Given the description of an element on the screen output the (x, y) to click on. 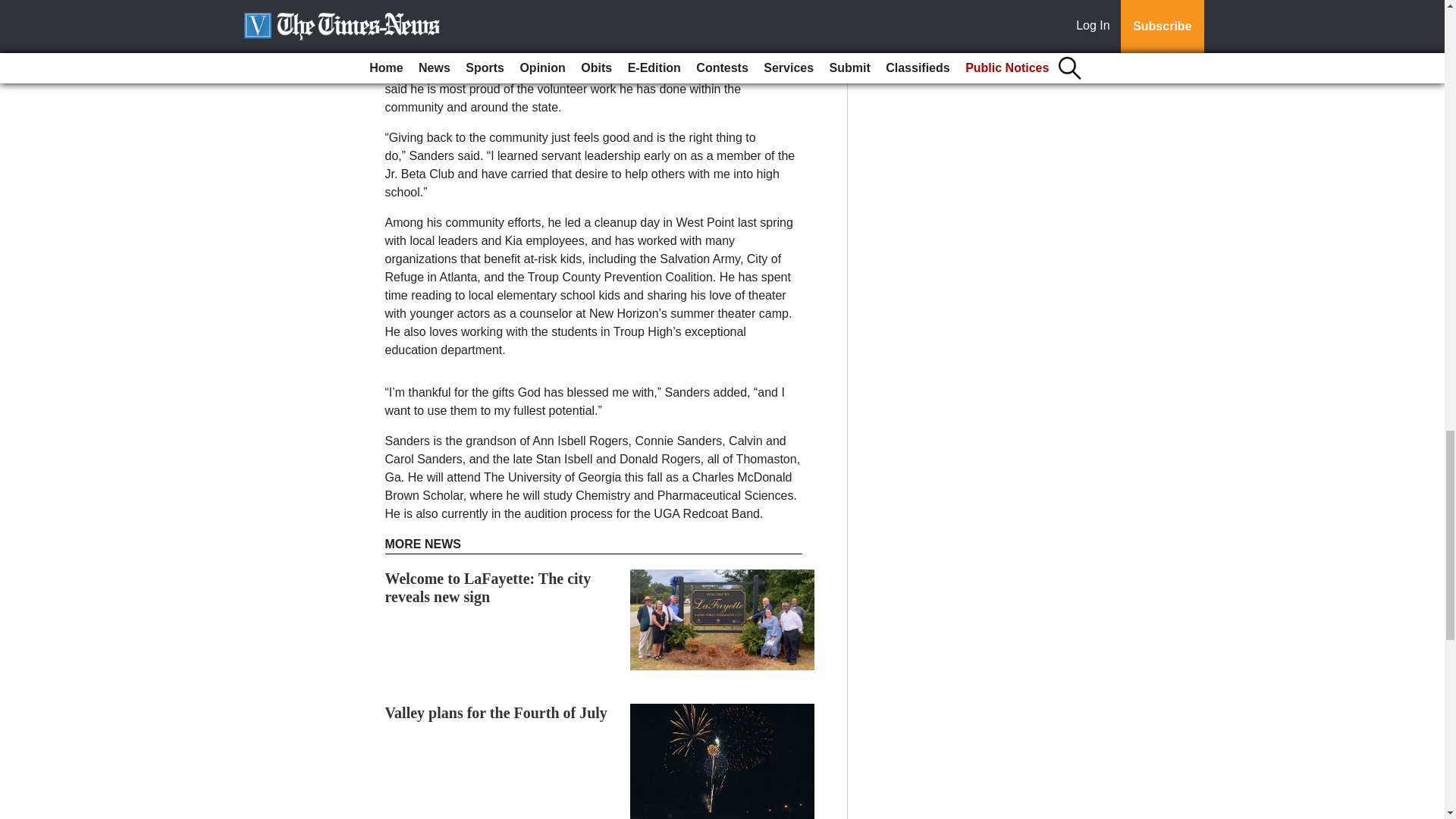
Welcome to LaFayette: The city reveals new sign (488, 587)
Valley plans for the Fourth of July (496, 712)
Welcome to LaFayette: The city reveals new sign (488, 587)
Valley plans for the Fourth of July (496, 712)
